Given the description of an element on the screen output the (x, y) to click on. 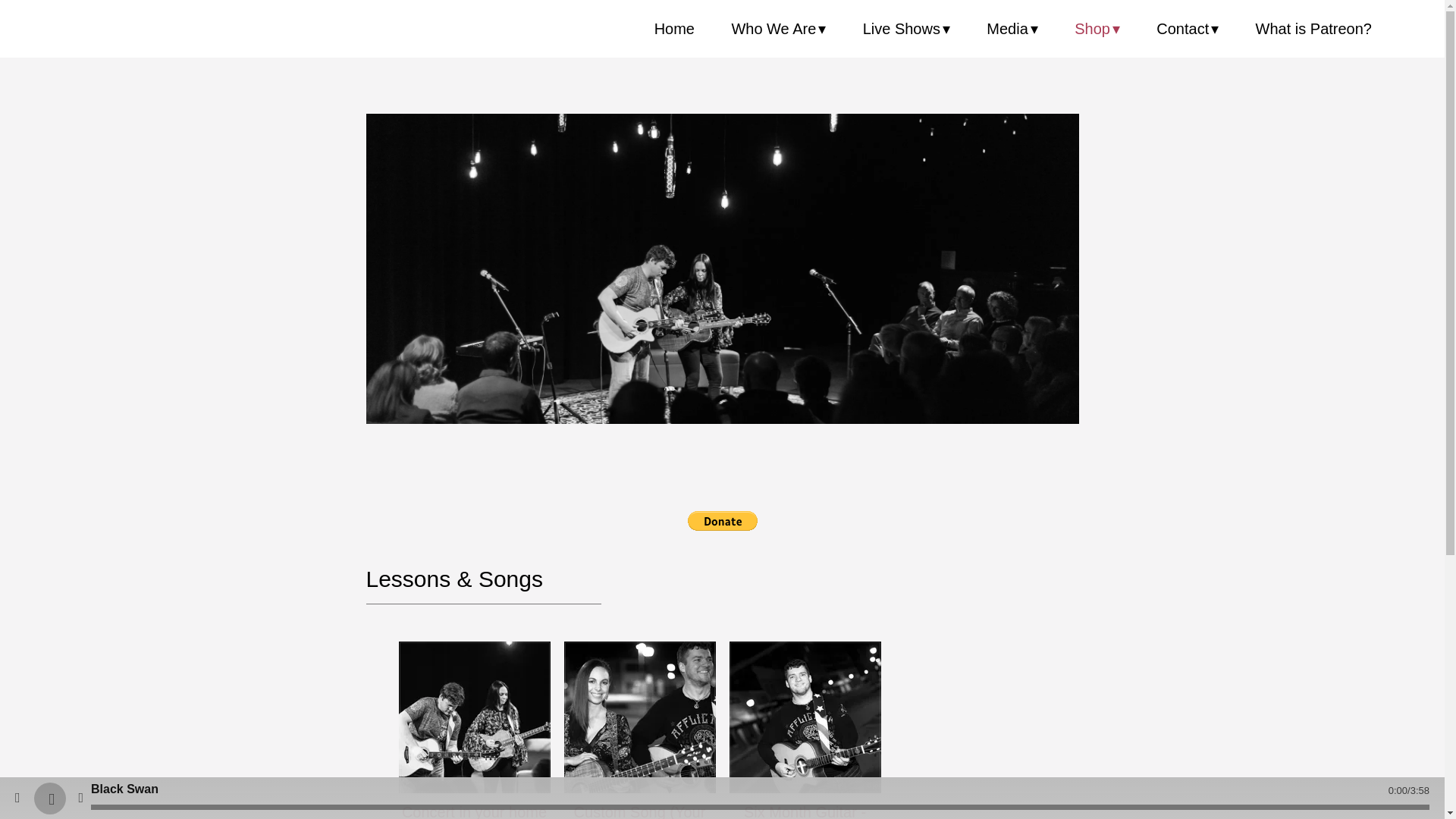
Shop (1096, 28)
Concert in your home (474, 717)
Home (673, 28)
Who We Are (777, 28)
Media (1011, 28)
Live Shows (906, 28)
